Given the description of an element on the screen output the (x, y) to click on. 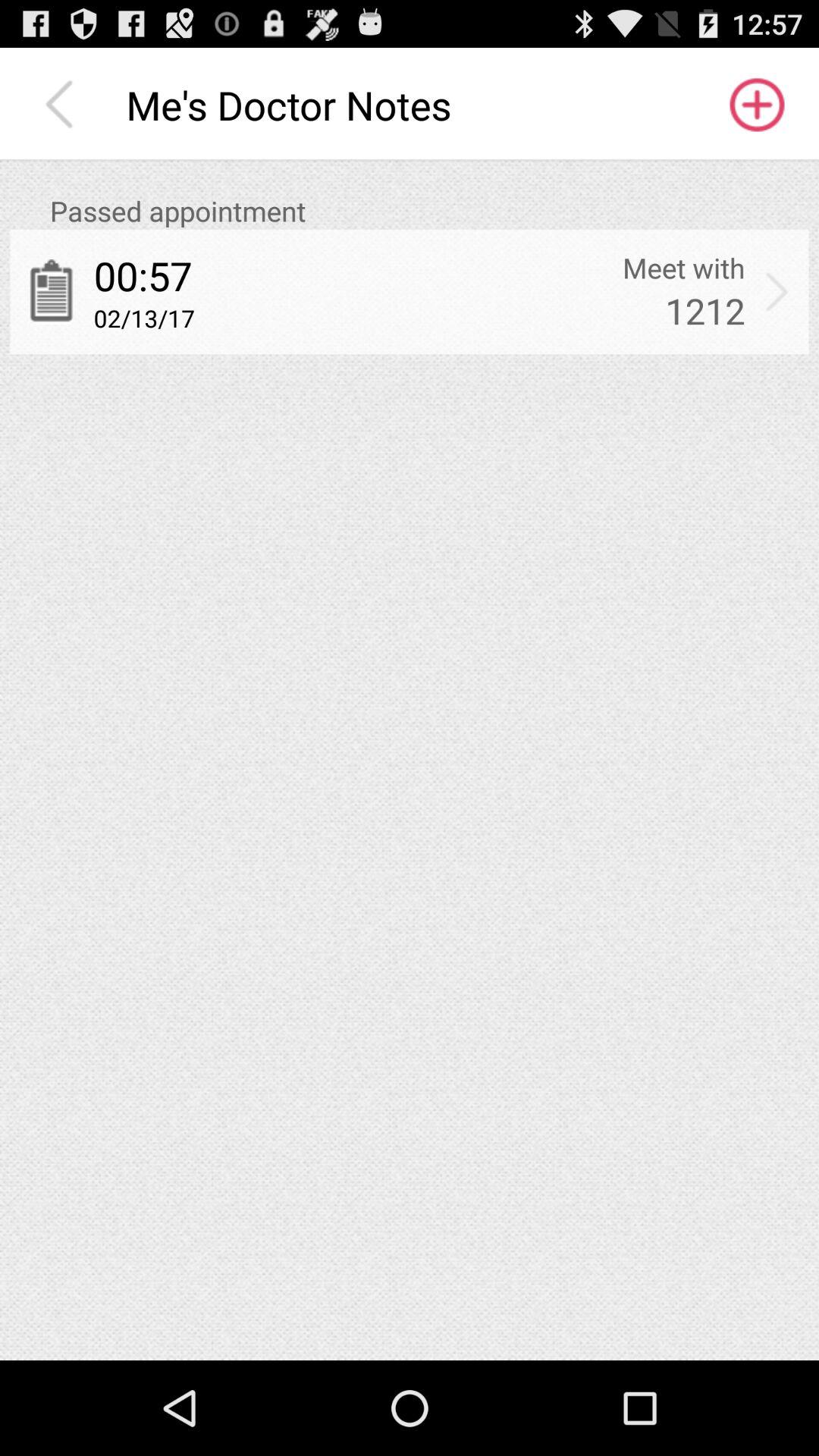
jump until passed appointment icon (429, 210)
